Given the description of an element on the screen output the (x, y) to click on. 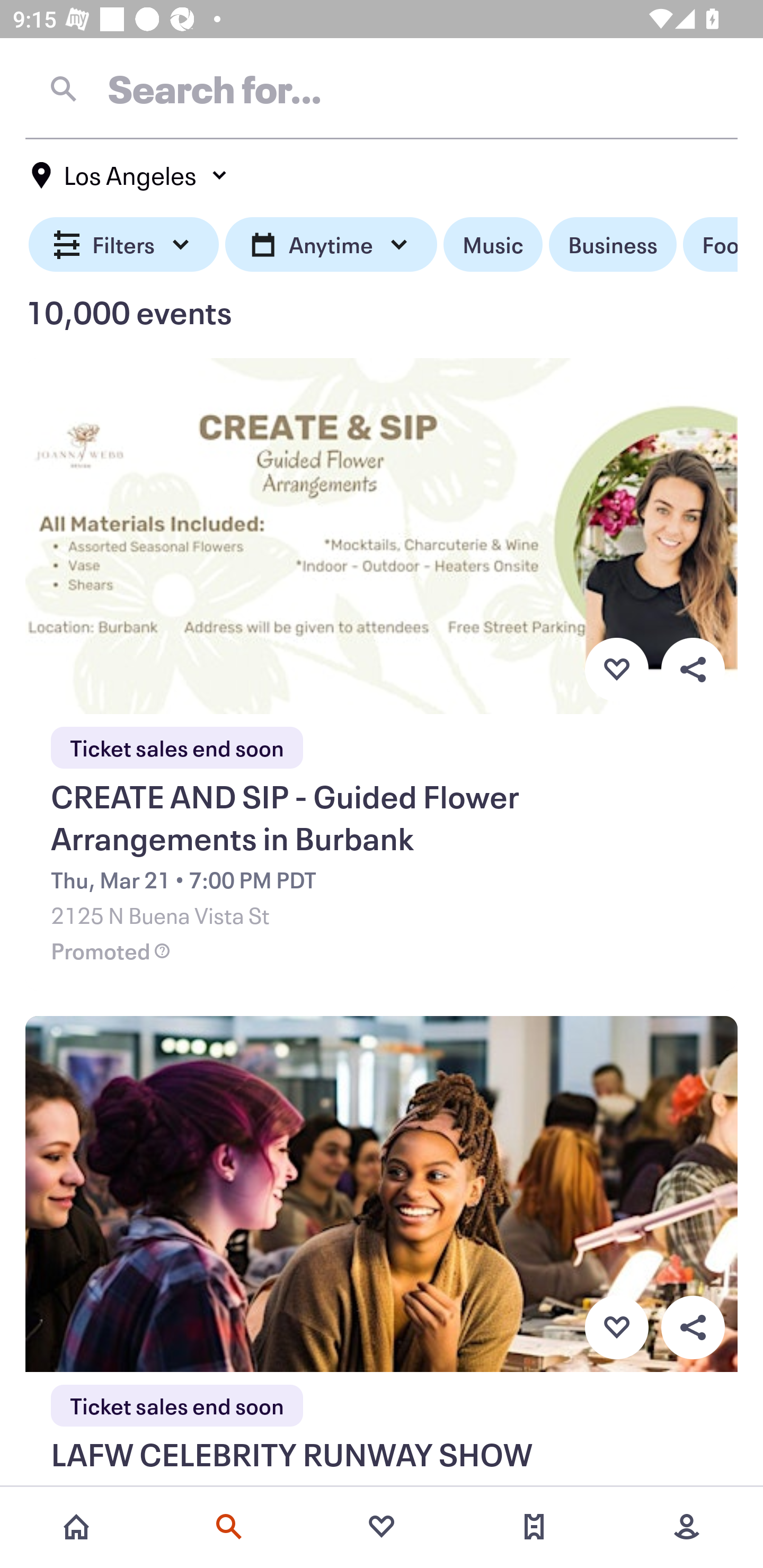
Search for… (381, 88)
Los Angeles (130, 175)
Filters (123, 244)
Anytime (331, 244)
Music (492, 244)
Business (612, 244)
Favorite button (616, 669)
Overflow menu button (692, 669)
Favorite button (616, 1326)
Overflow menu button (692, 1326)
Home (76, 1526)
Search events (228, 1526)
Favorites (381, 1526)
Tickets (533, 1526)
More (686, 1526)
